Given the description of an element on the screen output the (x, y) to click on. 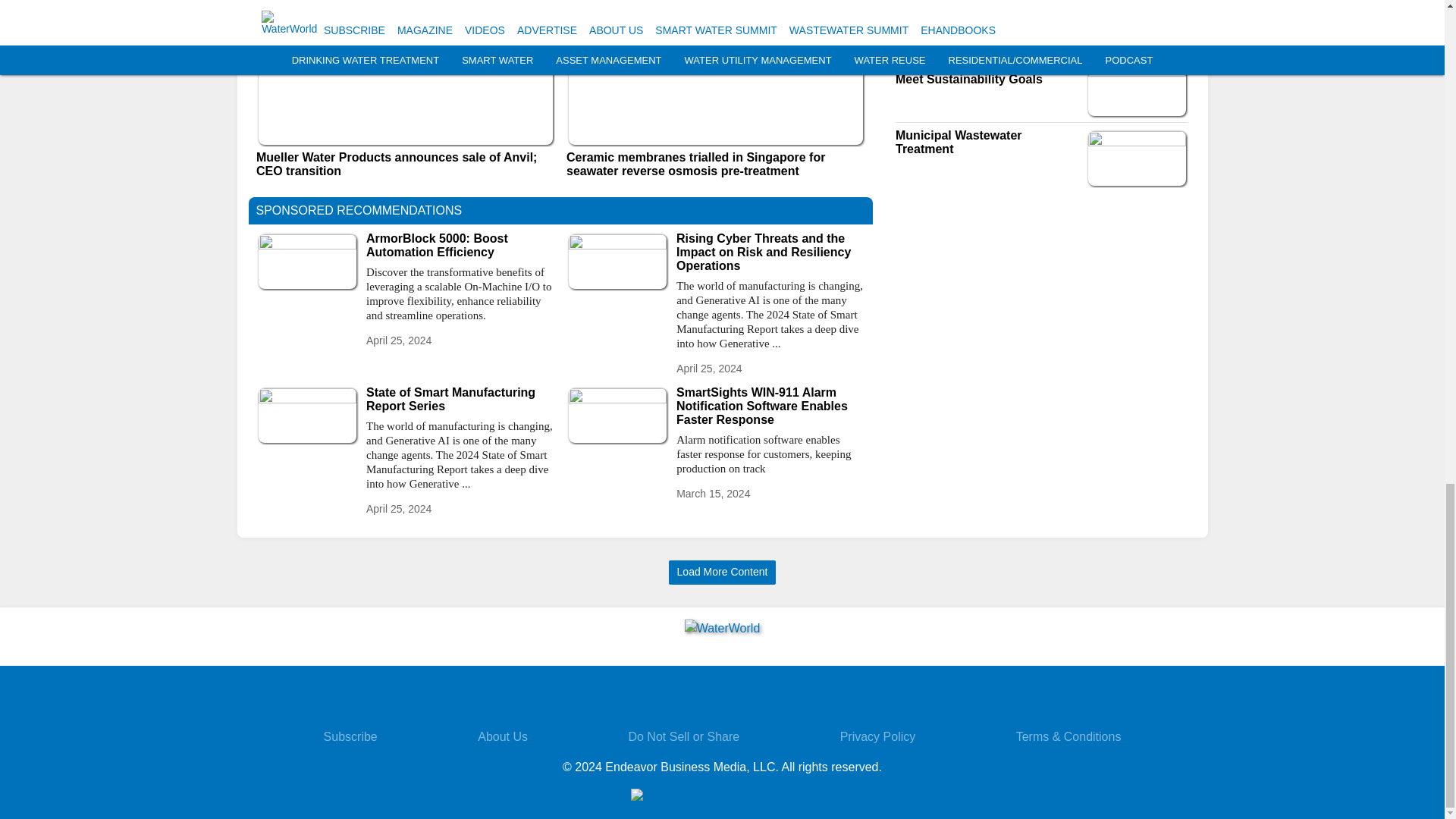
ArmorBlock 5000: Boost Automation Efficiency (459, 244)
State of Smart Manufacturing Report Series (459, 399)
